Given the description of an element on the screen output the (x, y) to click on. 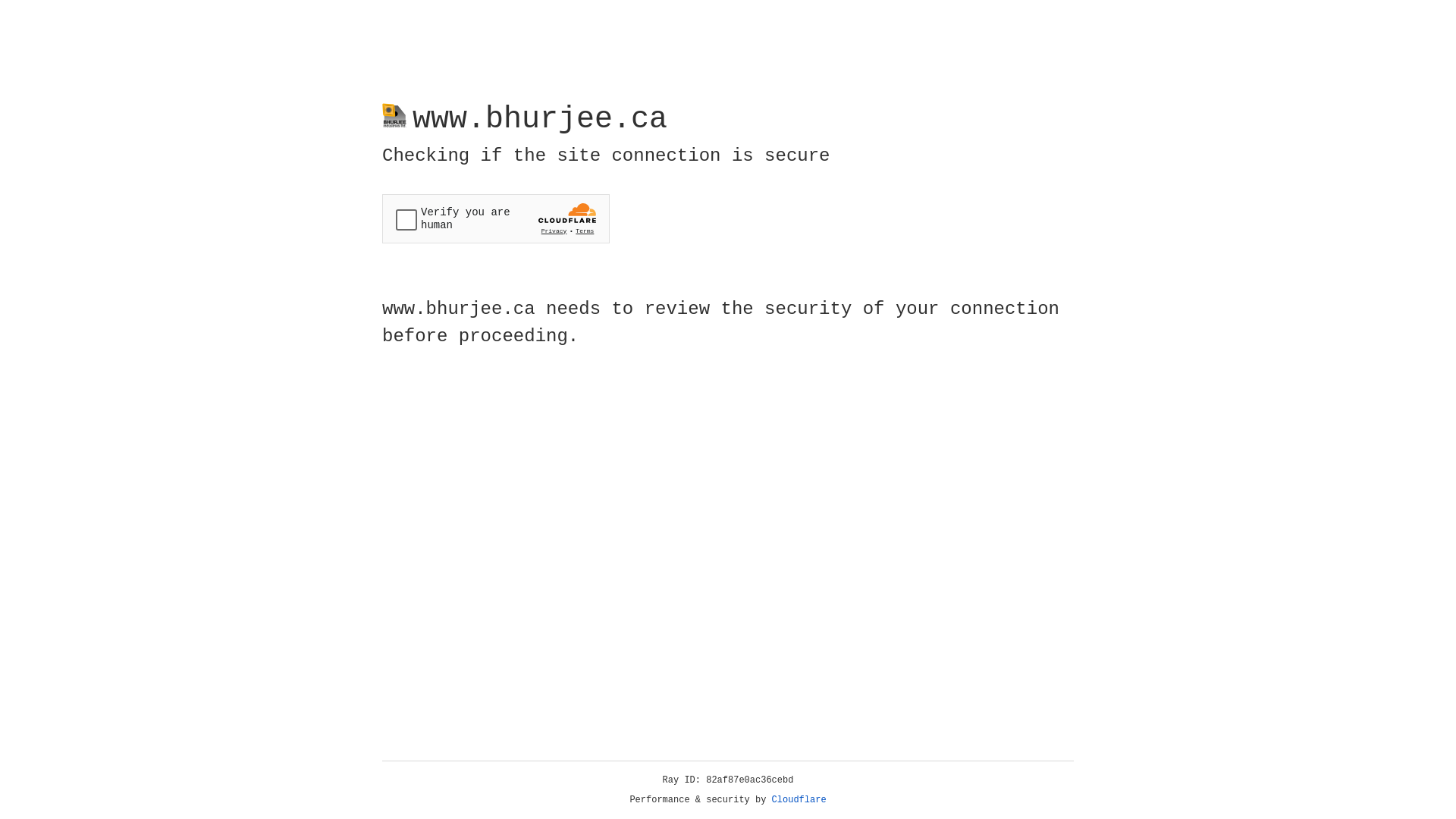
Cloudflare Element type: text (798, 799)
Widget containing a Cloudflare security challenge Element type: hover (495, 218)
